Given the description of an element on the screen output the (x, y) to click on. 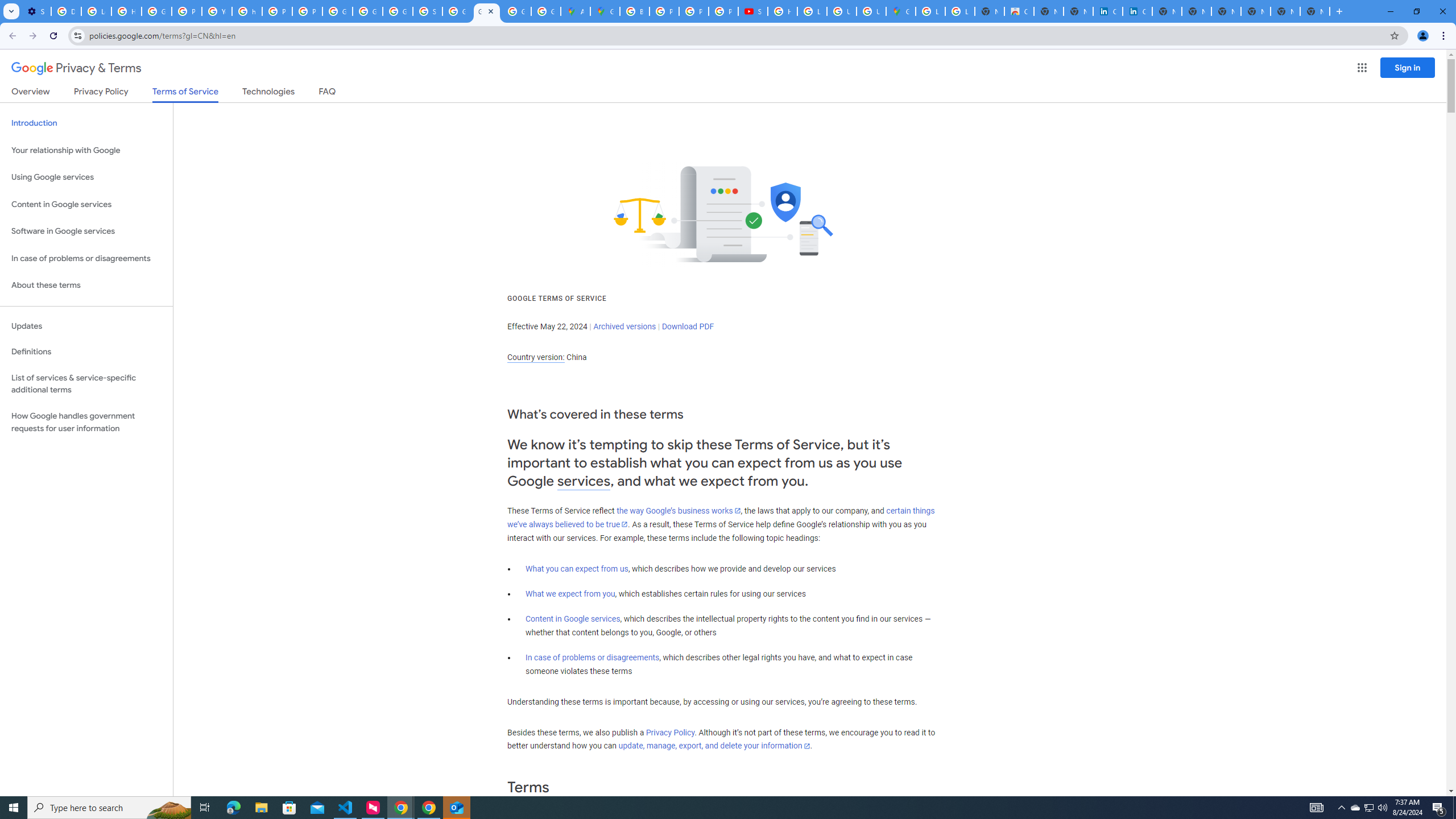
Privacy & Terms (76, 68)
Blogger Policies and Guidelines - Transparency Center (634, 11)
https://scholar.google.com/ (247, 11)
Cookie Policy | LinkedIn (1107, 11)
Introduction (86, 122)
Terms of Service (184, 94)
List of services & service-specific additional terms (86, 383)
Privacy Policy (669, 732)
Content in Google services (572, 618)
